Given the description of an element on the screen output the (x, y) to click on. 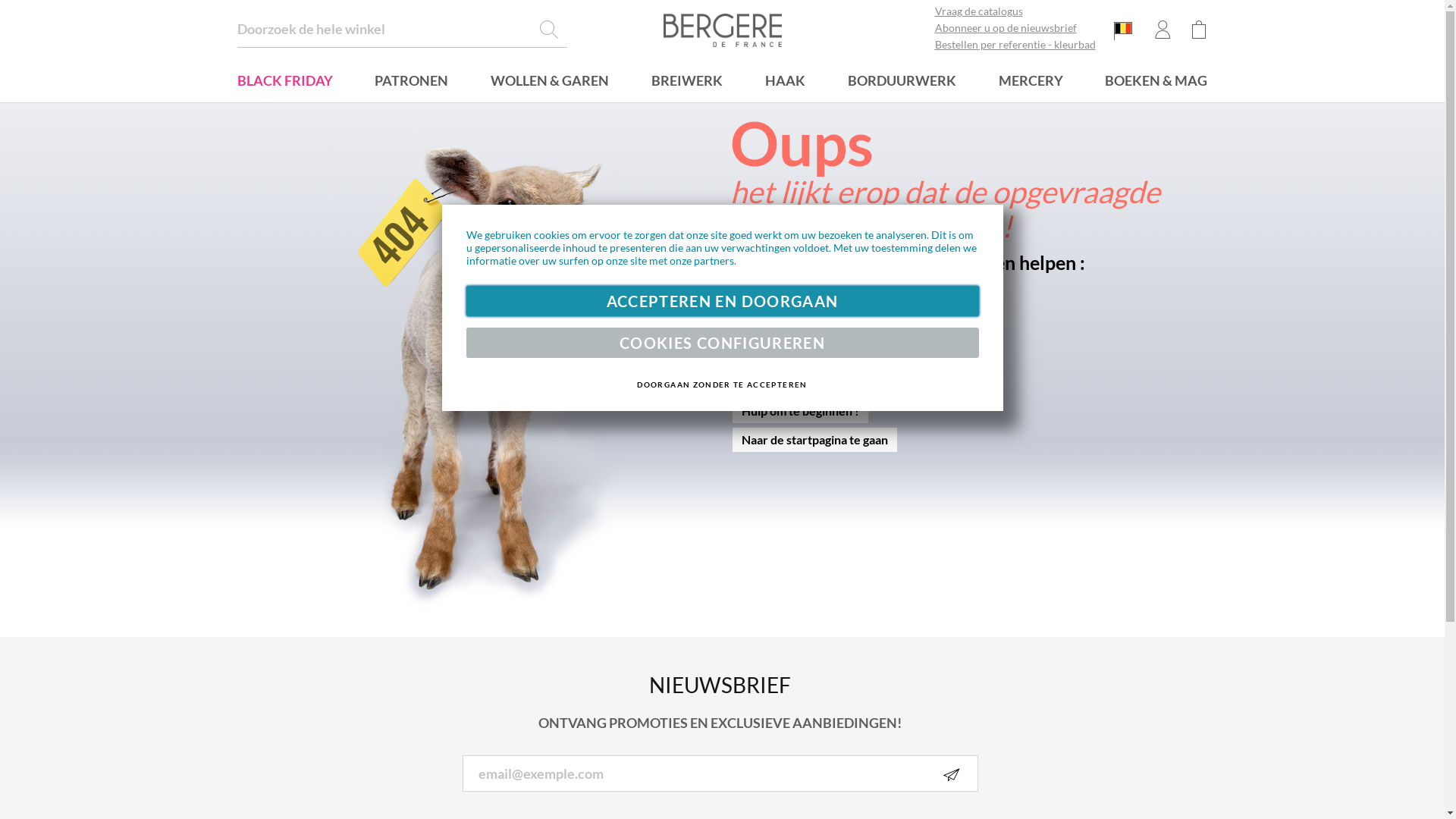
BOEKEN & MAG Element type: text (1155, 81)
Bestellen per referentie - kleurbad Element type: text (1018, 46)
Naar de startpagina te gaan Element type: text (814, 439)
Zoeken Element type: text (548, 30)
BORDUURWERK Element type: text (901, 81)
Winkelwagen Element type: hover (1198, 30)
Inloggen Element type: text (1161, 30)
BREIWERK Element type: text (686, 81)
Vraag de catalogus Element type: text (1018, 13)
Onze patronen Element type: text (782, 353)
Abonneer u op de nieuwsbrief Element type: text (1018, 29)
WOLLEN & GAREN Element type: text (549, 81)
HAAK Element type: text (785, 81)
Log in op uw account Element type: text (797, 295)
PATRONEN Element type: text (411, 81)
BLACK FRIDAY Element type: text (284, 81)
MERCERY Element type: text (1030, 81)
Vragen-antwoorden Element type: text (796, 324)
Inschrijven Element type: text (951, 774)
Hulp om te beginnen ! Element type: text (800, 410)
